Given the description of an element on the screen output the (x, y) to click on. 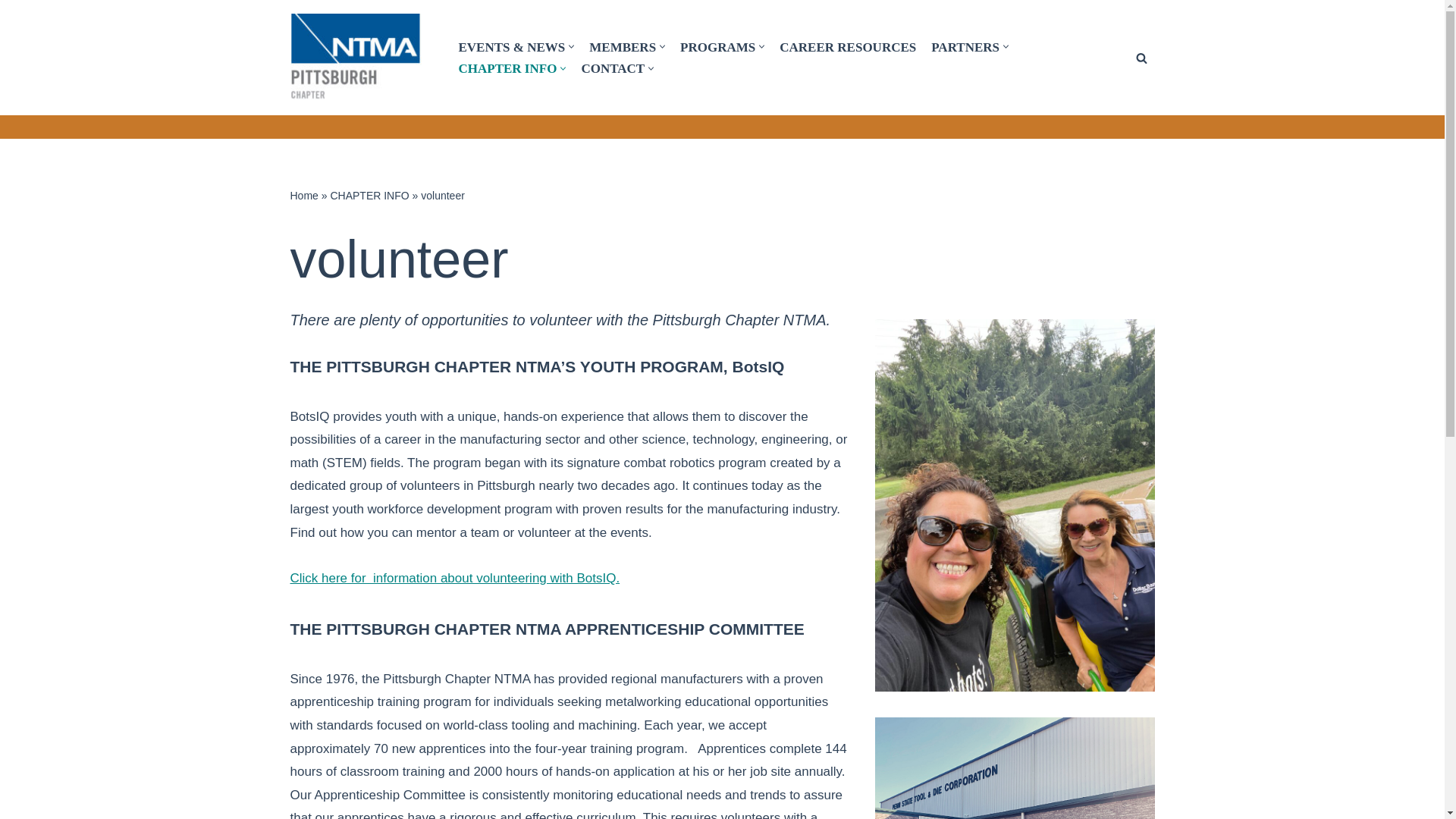
CONTACT (612, 67)
PARTNERS (964, 46)
MEMBERS (622, 46)
Skip to content (11, 31)
CHAPTER INFO (507, 67)
PROGRAMS (717, 46)
CAREER RESOURCES (846, 46)
